Given the description of an element on the screen output the (x, y) to click on. 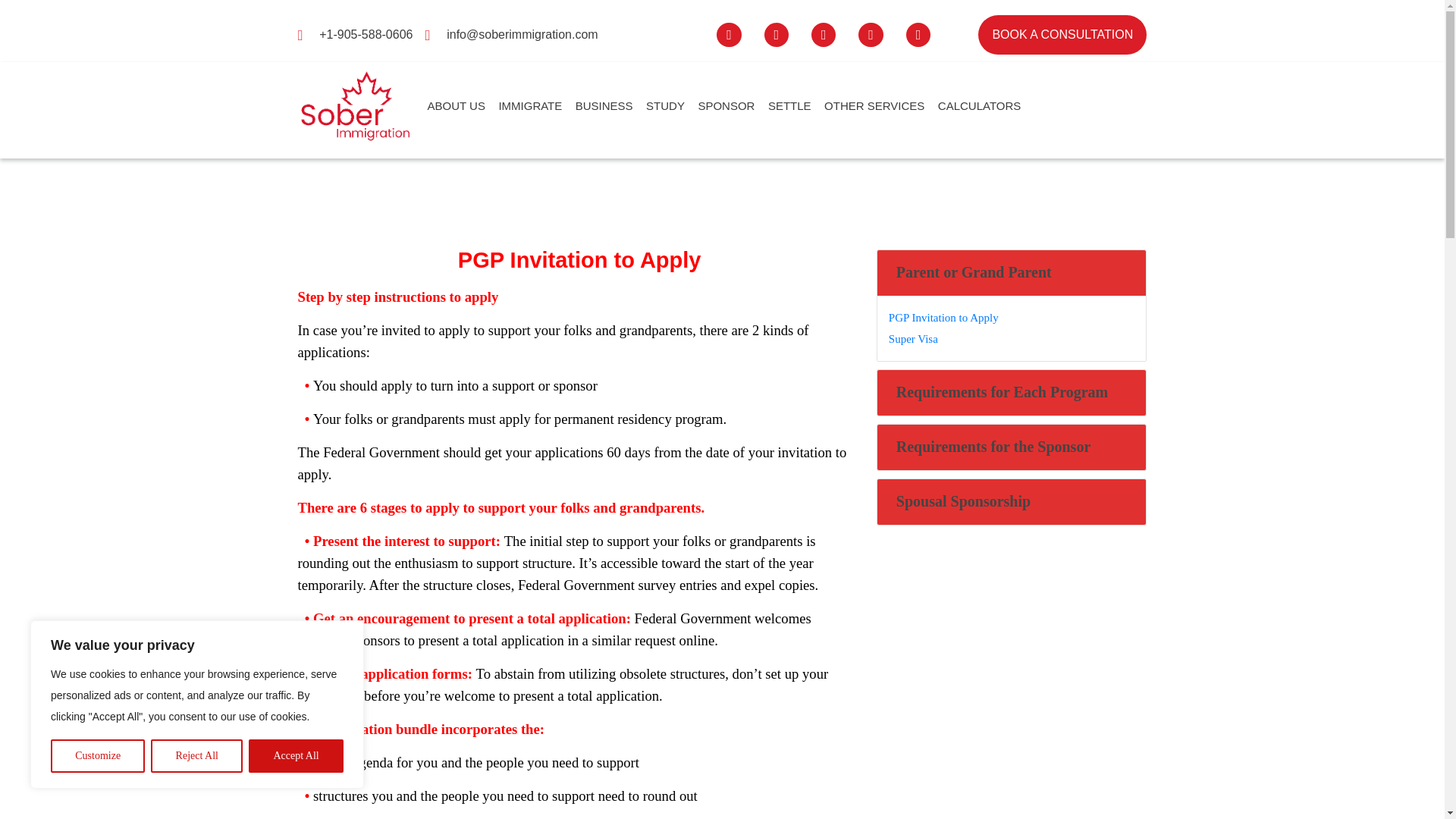
Customize (97, 756)
IMMIGRATE (535, 105)
Accept All (295, 756)
ABOUT US (462, 105)
Reject All (197, 756)
BOOK A CONSULTATION (1062, 34)
